Given the description of an element on the screen output the (x, y) to click on. 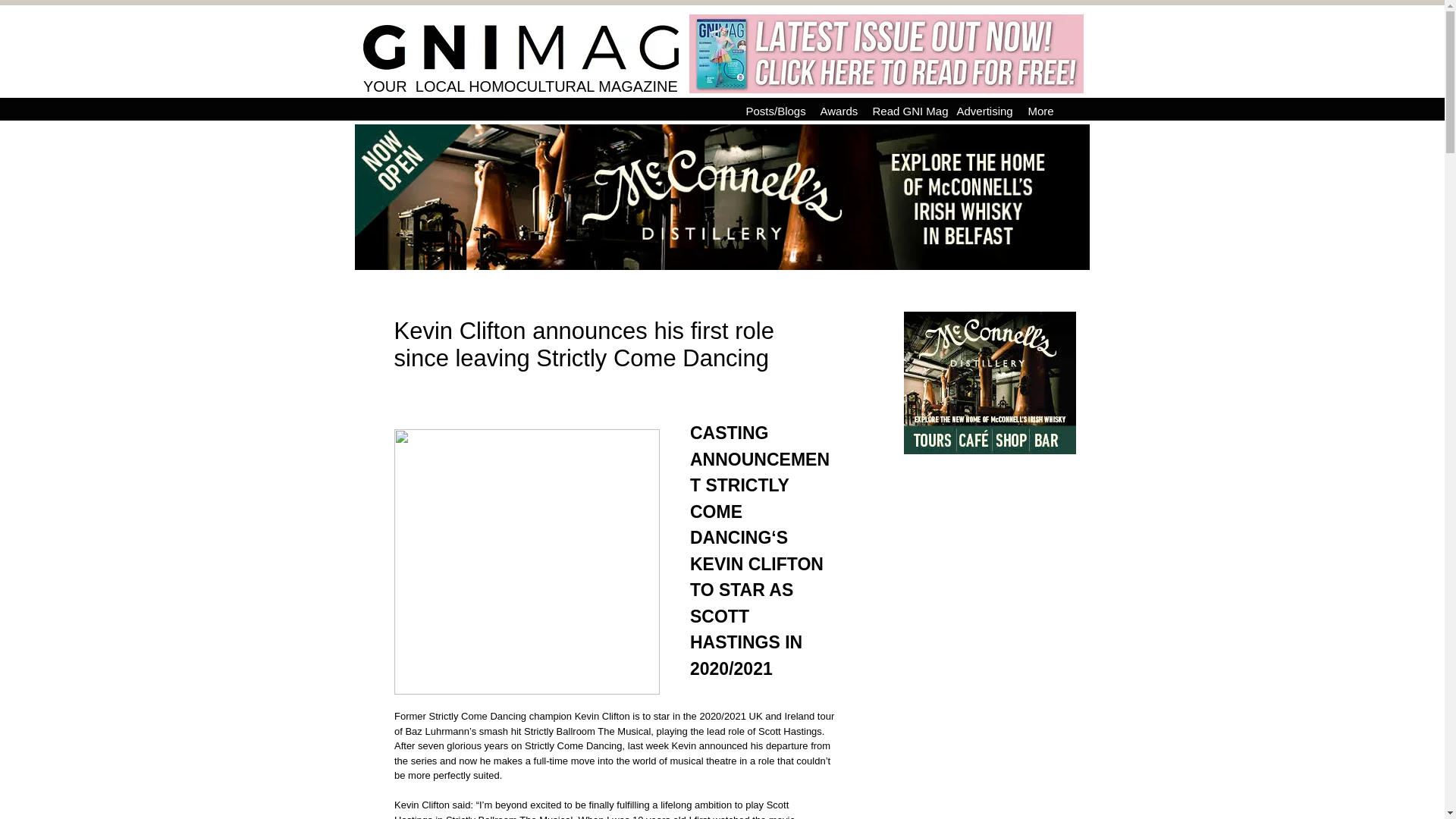
Read GNI Mag (906, 110)
Awards (838, 110)
Advertising (984, 110)
